Given the description of an element on the screen output the (x, y) to click on. 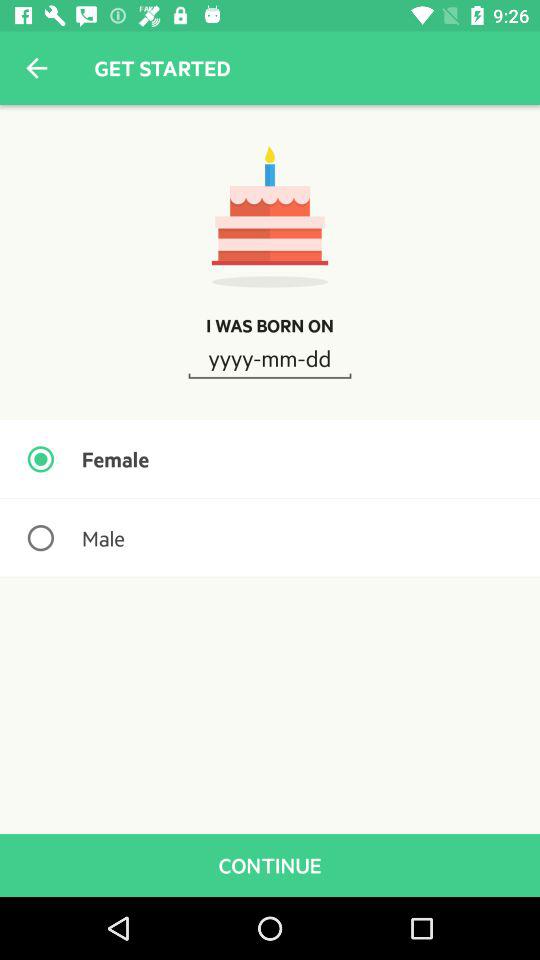
open the icon above i was born icon (36, 68)
